Given the description of an element on the screen output the (x, y) to click on. 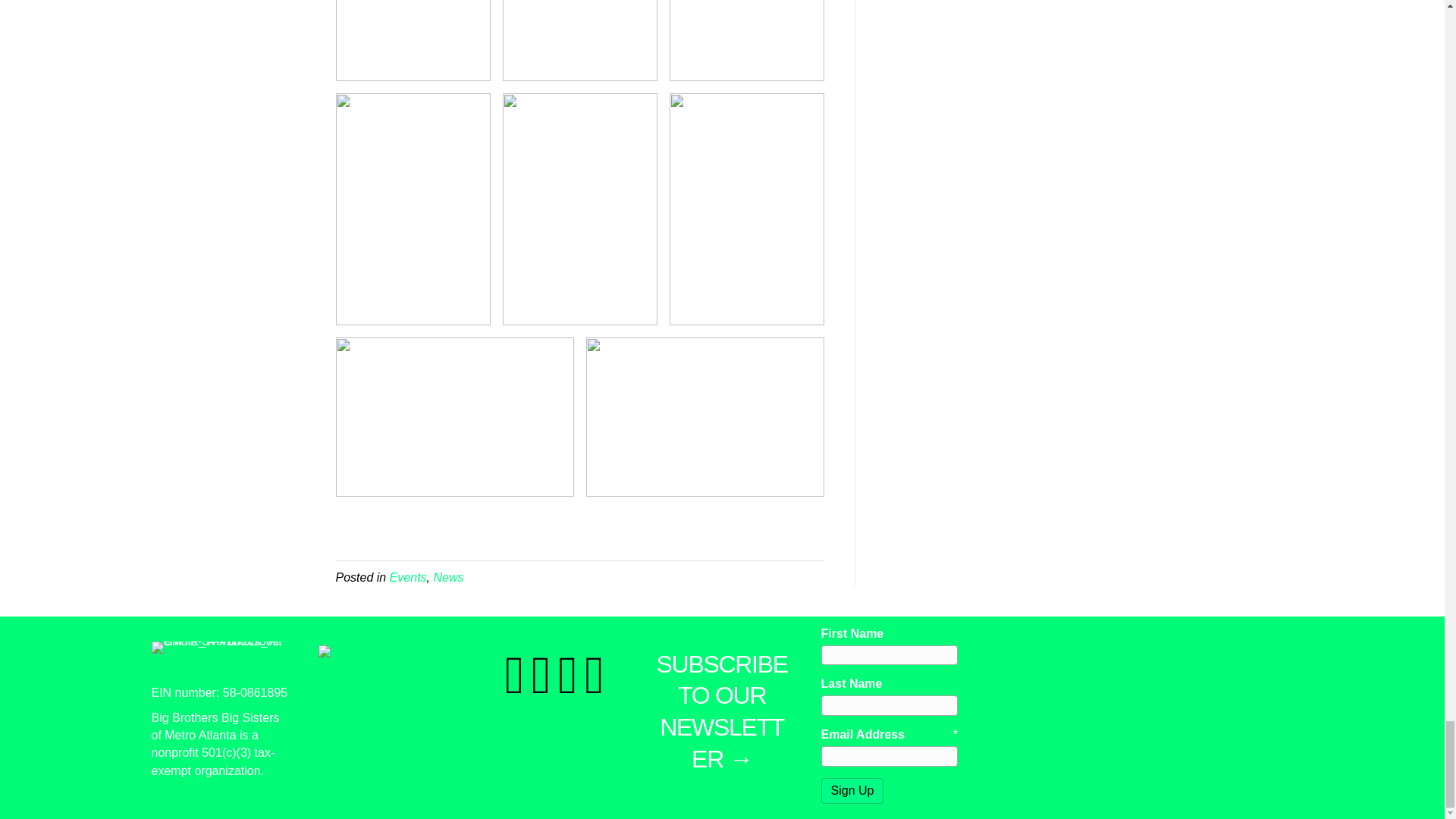
Sign Up (852, 790)
